Given the description of an element on the screen output the (x, y) to click on. 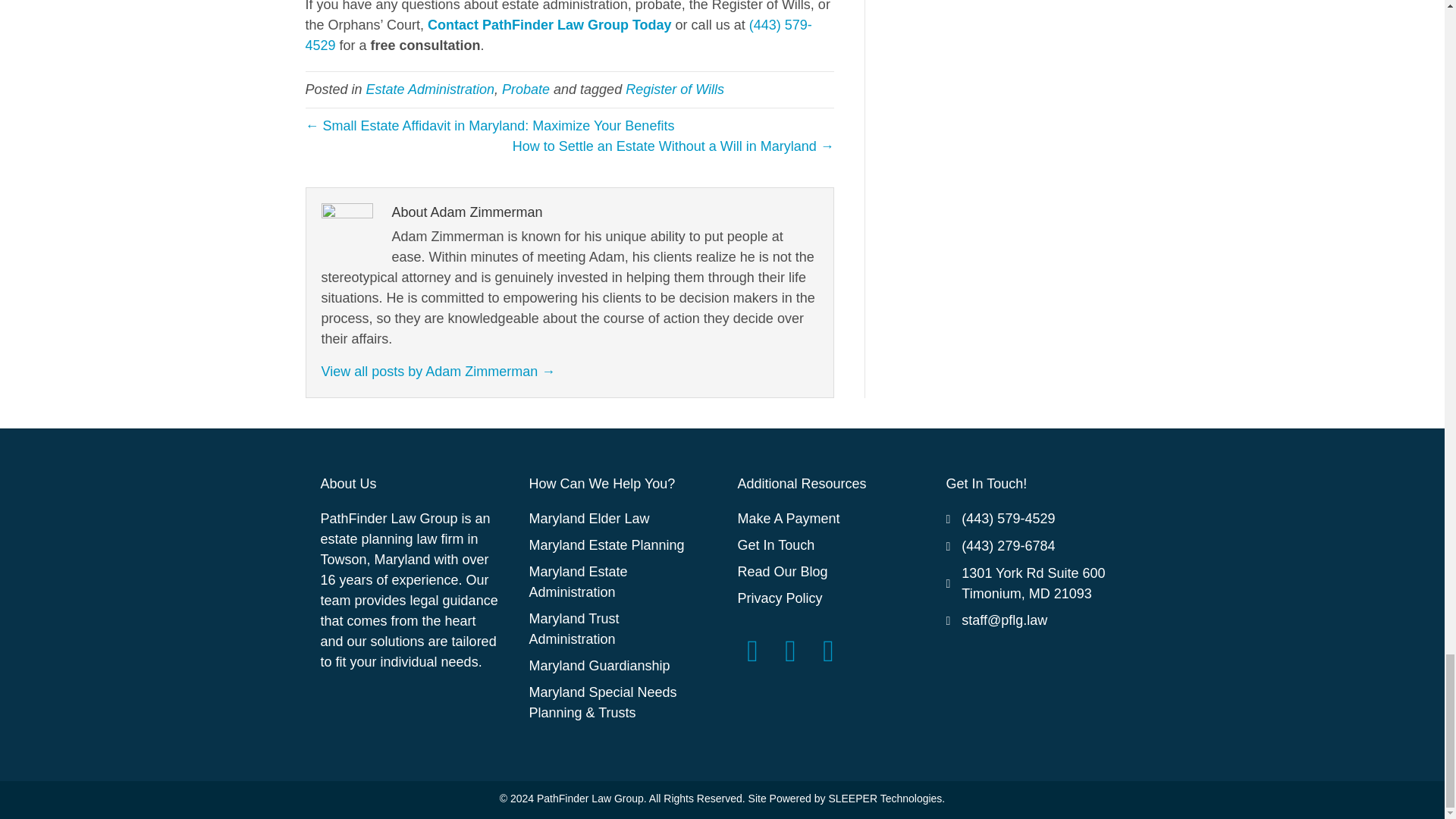
Contact PathFinder Law Group Today (549, 24)
Estate Administration (430, 89)
Probate (526, 89)
Register of Wills (674, 89)
